Given the description of an element on the screen output the (x, y) to click on. 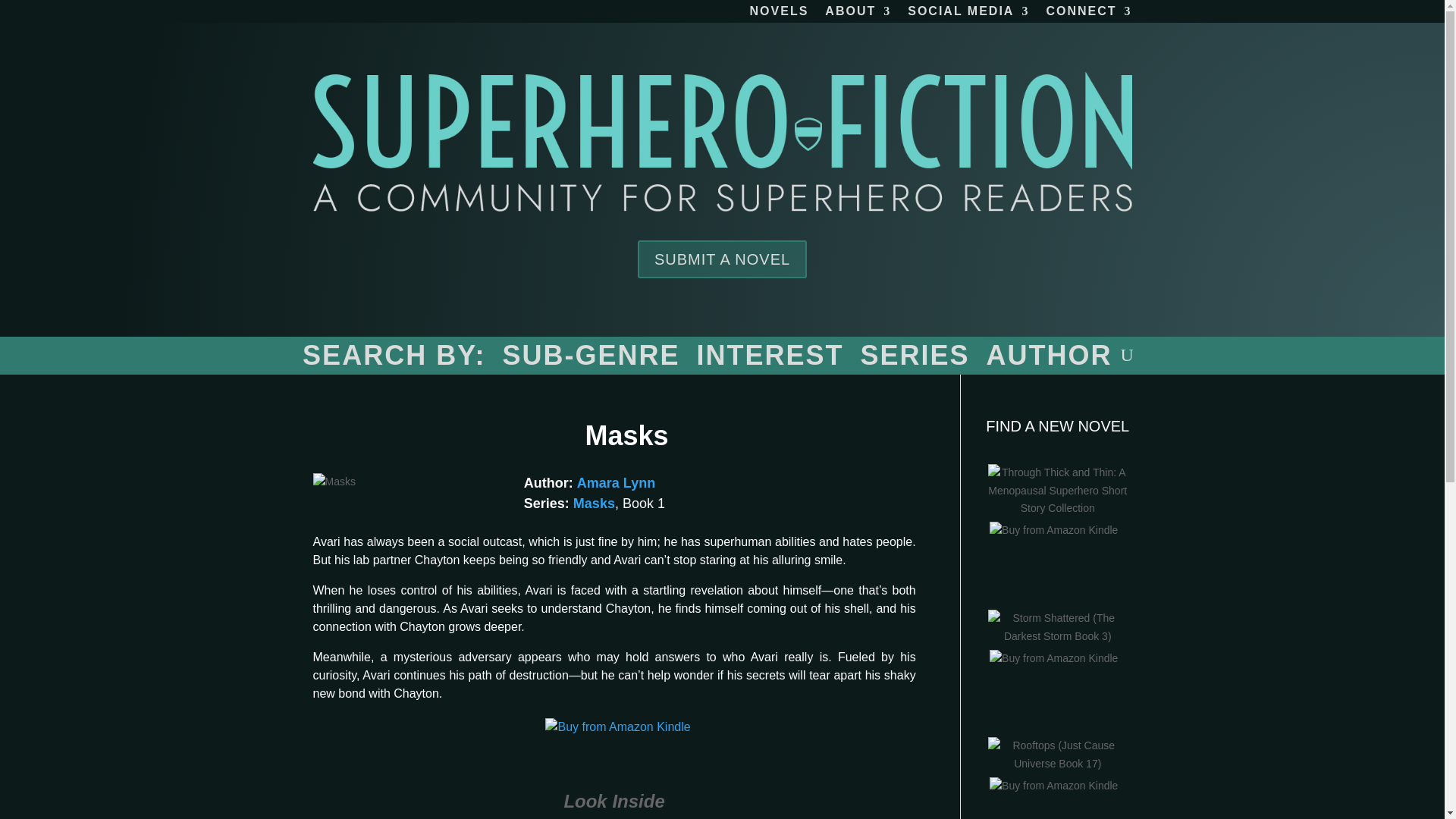
Amara Lynn (615, 482)
SEARCH BY: (393, 358)
SUBMIT A NOVEL (721, 259)
SOCIAL MEDIA (968, 13)
SUB-GENRE (590, 358)
INTEREST (769, 358)
ABOUT (858, 13)
AUTHOR (1049, 358)
NOVELS (779, 13)
Masks (593, 503)
